Given the description of an element on the screen output the (x, y) to click on. 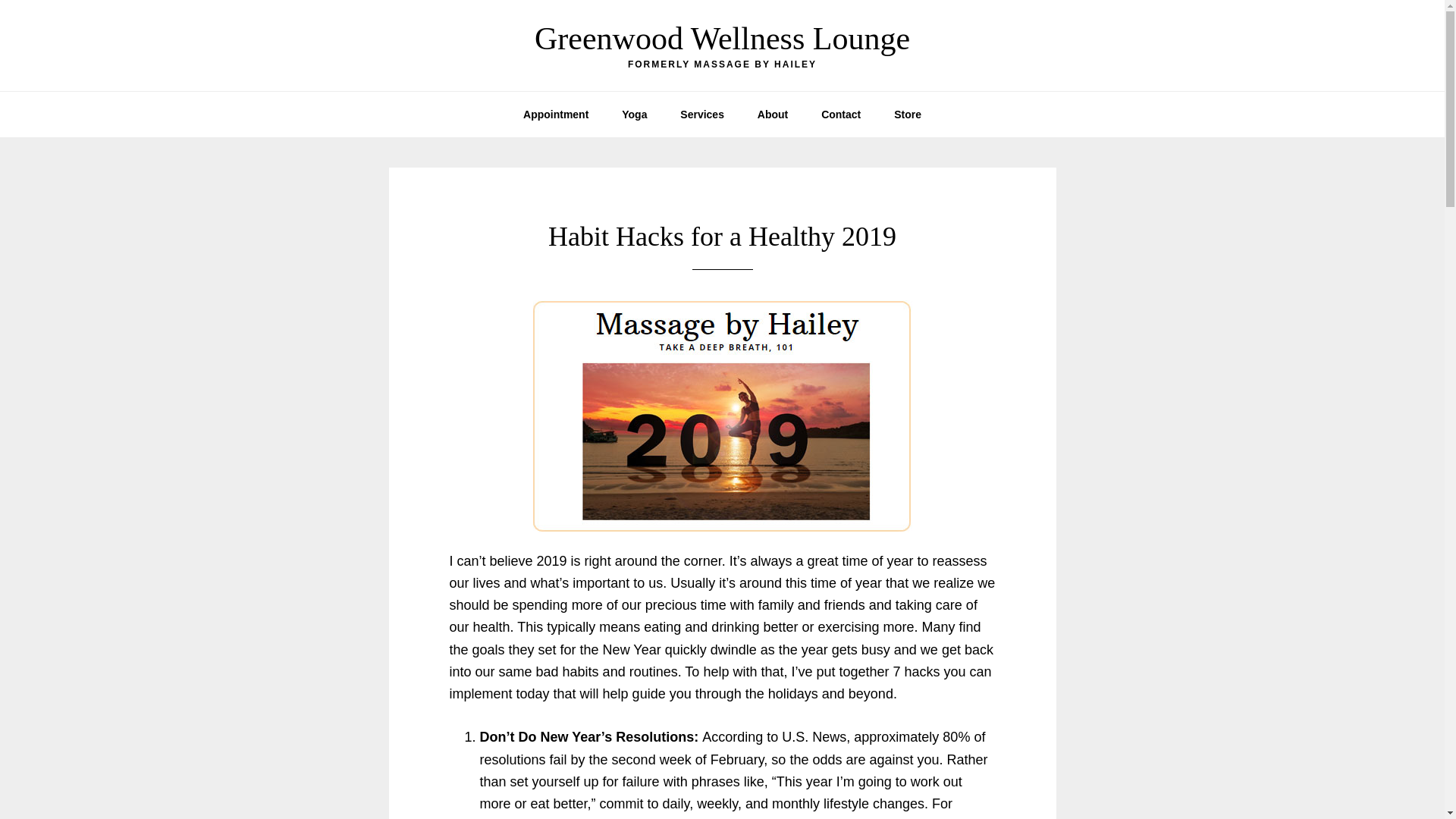
Appointment (556, 114)
Store (907, 114)
Contact (841, 114)
Yoga (634, 114)
Greenwood Wellness Lounge (722, 38)
About (772, 114)
Services (702, 114)
